Given the description of an element on the screen output the (x, y) to click on. 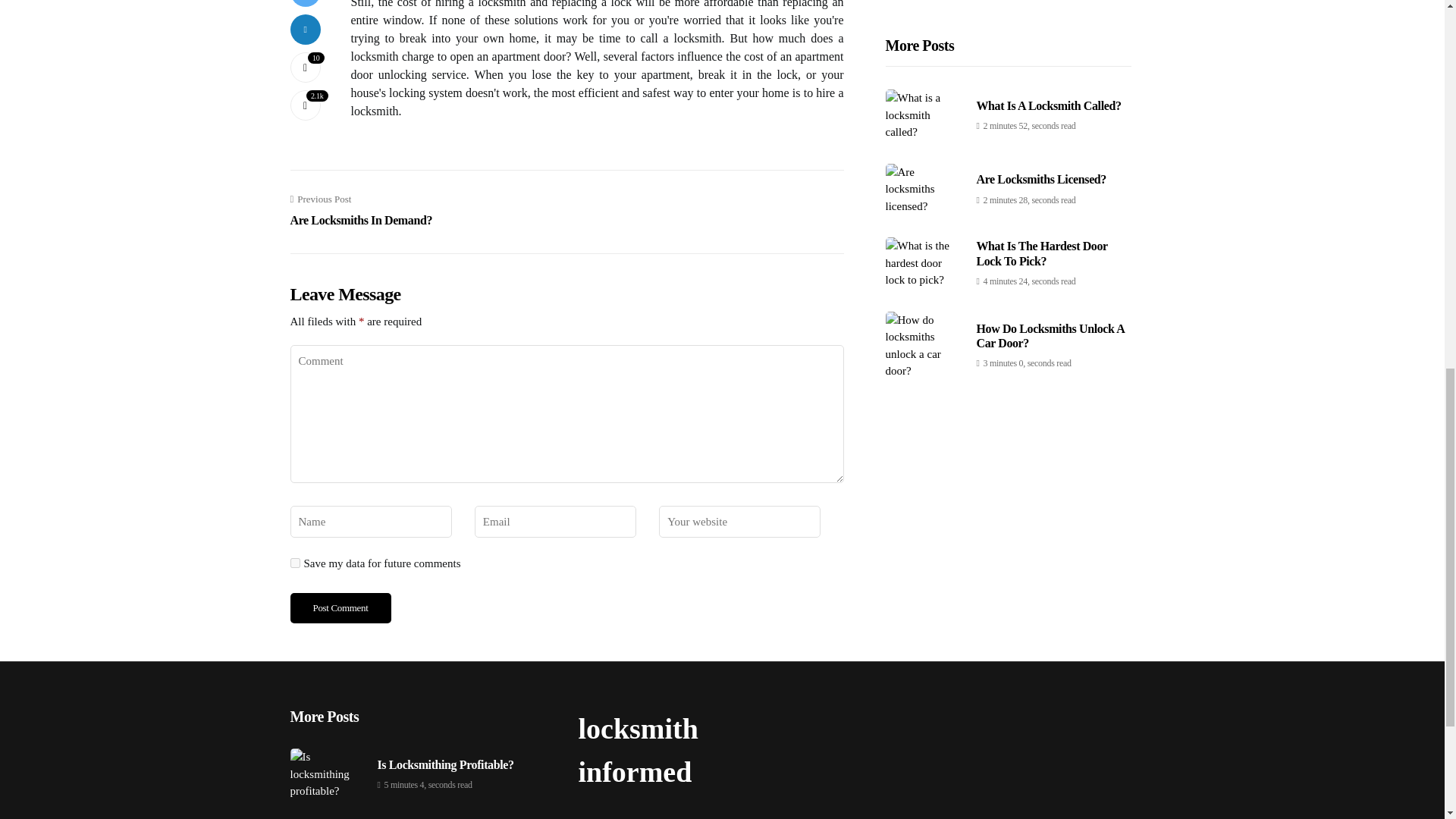
Post Comment (339, 607)
yes (294, 562)
Post Comment (360, 210)
How Do Locksmiths Unlock A Car Door? (339, 607)
